Given the description of an element on the screen output the (x, y) to click on. 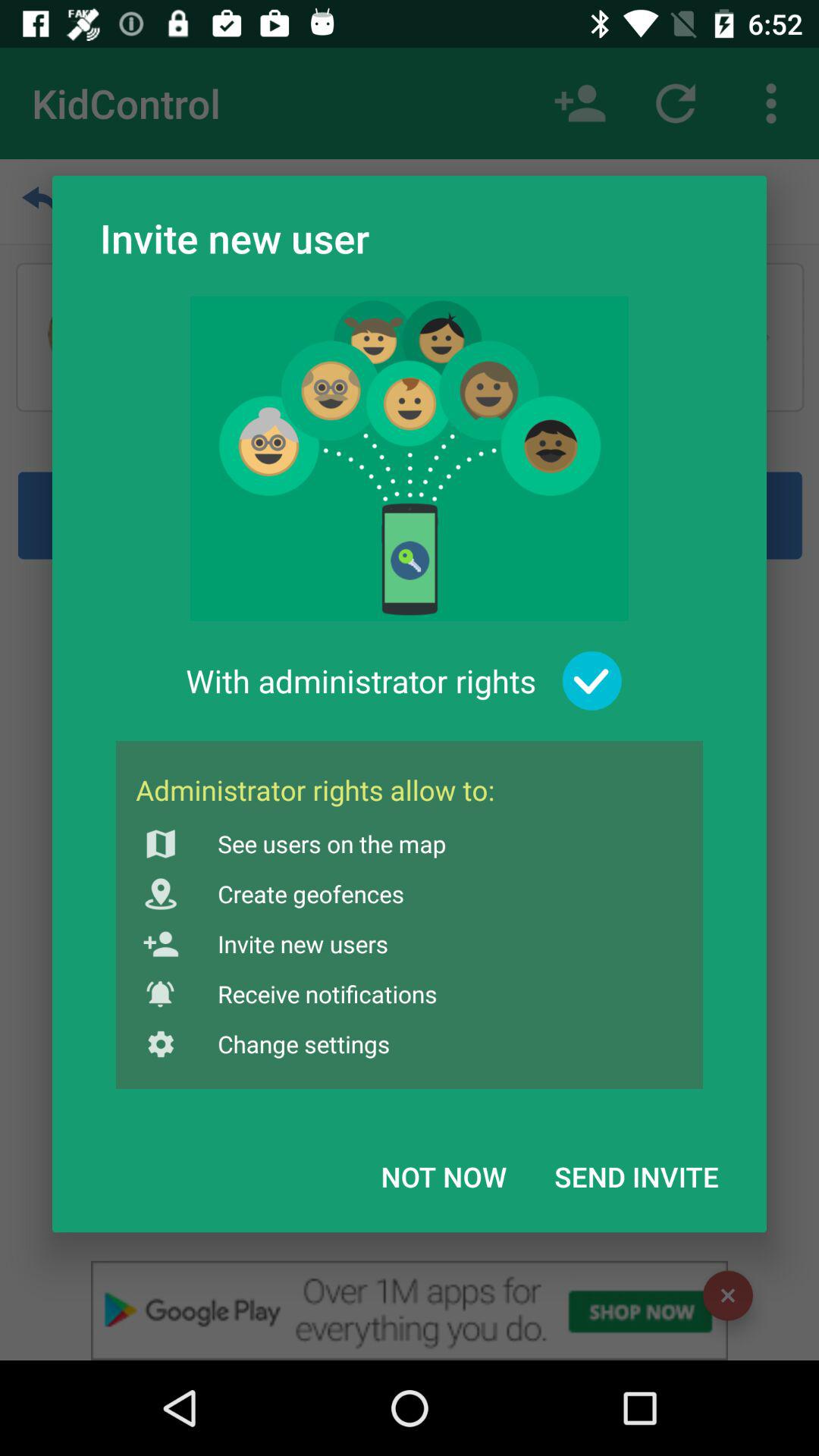
choose icon next to with administrator rights (592, 680)
